Given the description of an element on the screen output the (x, y) to click on. 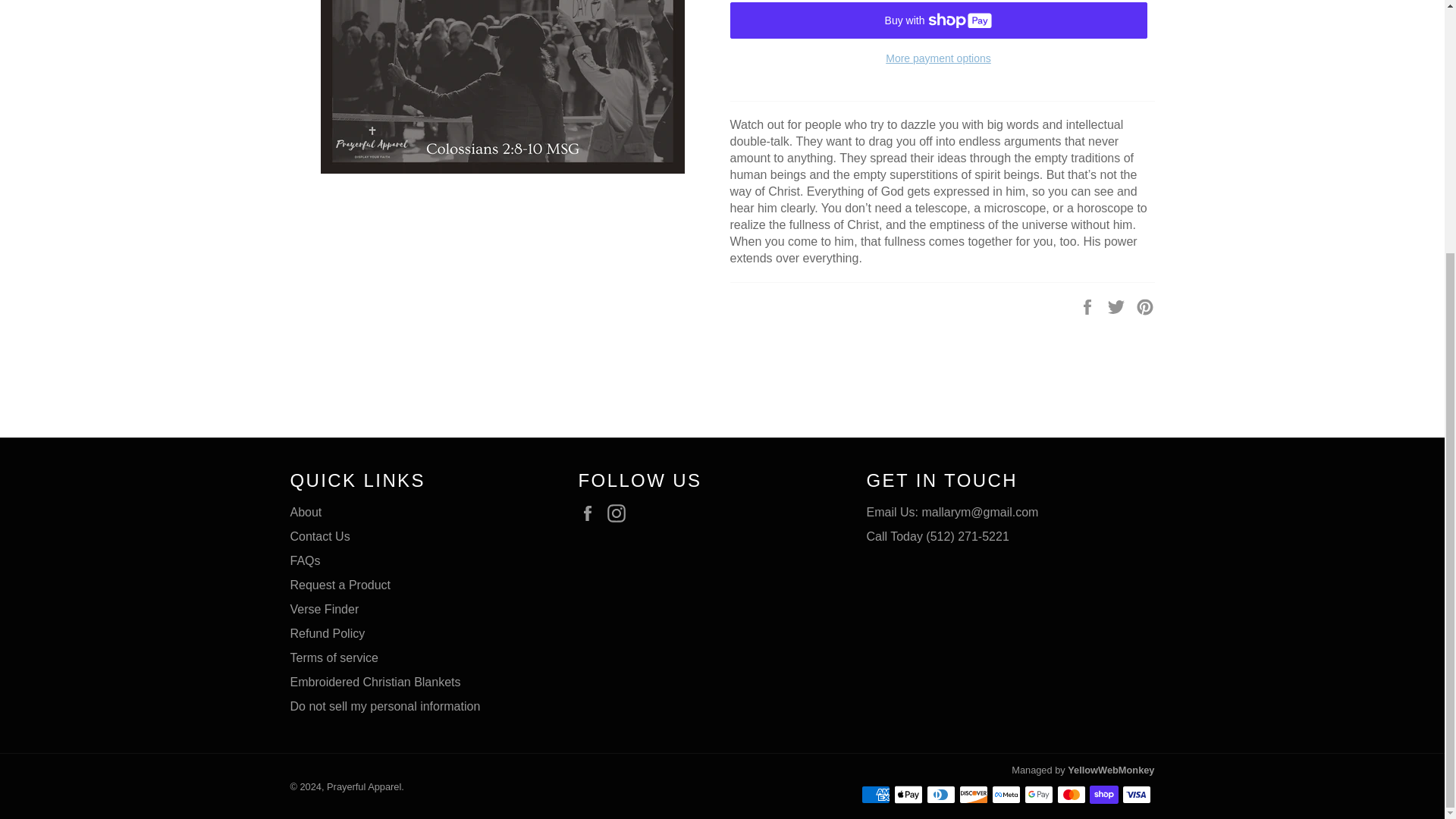
Prayerful Apparel on Facebook (591, 513)
Prayerful Apparel on Instagram (620, 513)
Tweet on Twitter (1117, 305)
tel:15122715221 (937, 535)
Pin on Pinterest (1144, 305)
Share on Facebook (1088, 305)
